Given the description of an element on the screen output the (x, y) to click on. 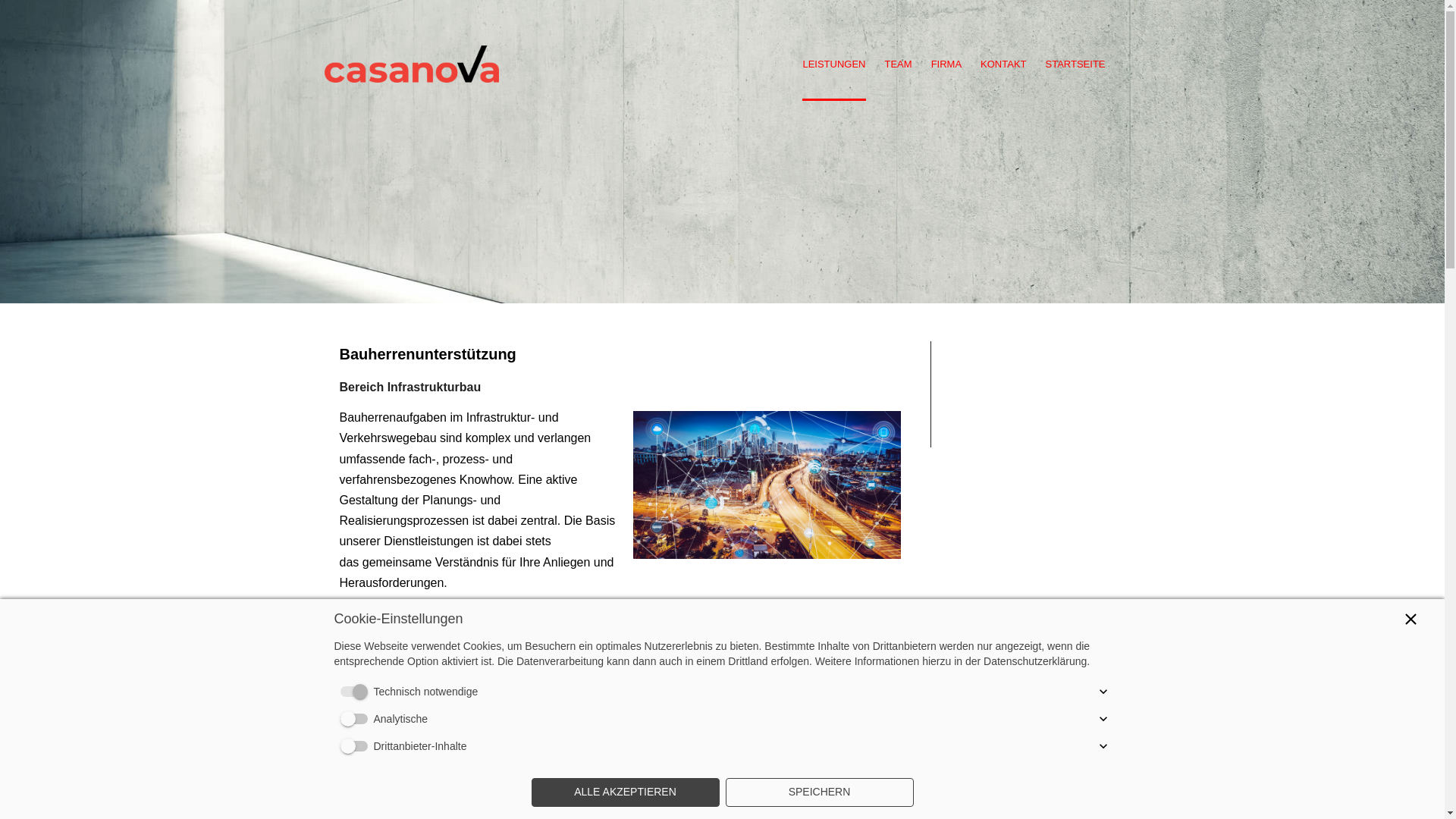
TEAM Element type: text (897, 65)
KONTAKT Element type: text (1003, 65)
  Element type: text (411, 37)
SPEICHERN Element type: text (818, 792)
LEISTUNGEN Element type: text (833, 65)
STARTSEITE Element type: text (1075, 65)
ALLE AKZEPTIEREN Element type: text (624, 792)
FIRMA Element type: text (946, 65)
